Given the description of an element on the screen output the (x, y) to click on. 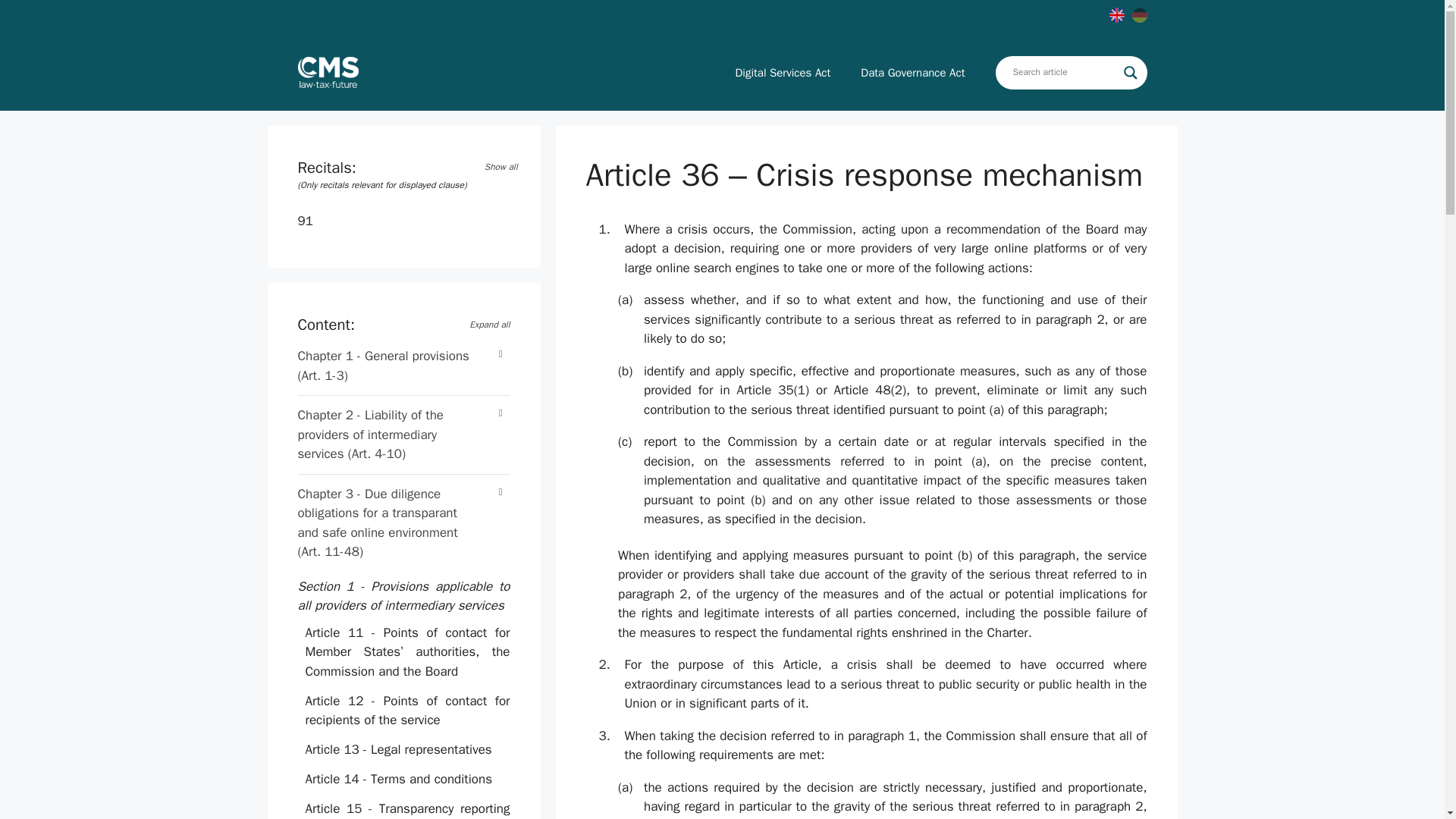
Show all (508, 167)
Data Governance Act (912, 72)
Digital Services Act (782, 72)
